Given the description of an element on the screen output the (x, y) to click on. 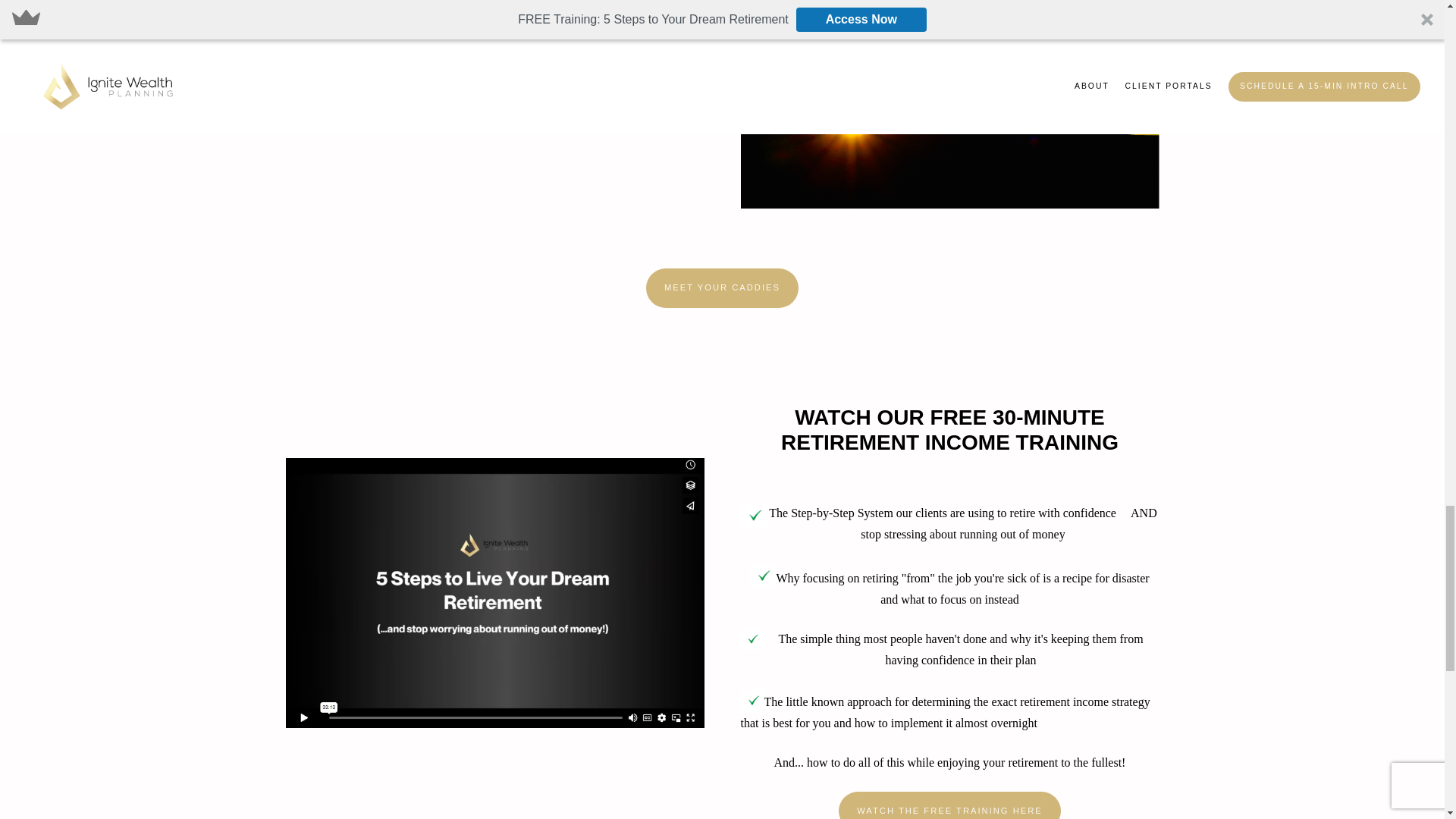
MEET YOUR CADDIES (721, 287)
WATCH THE FREE TRAINING HERE (949, 805)
